Given the description of an element on the screen output the (x, y) to click on. 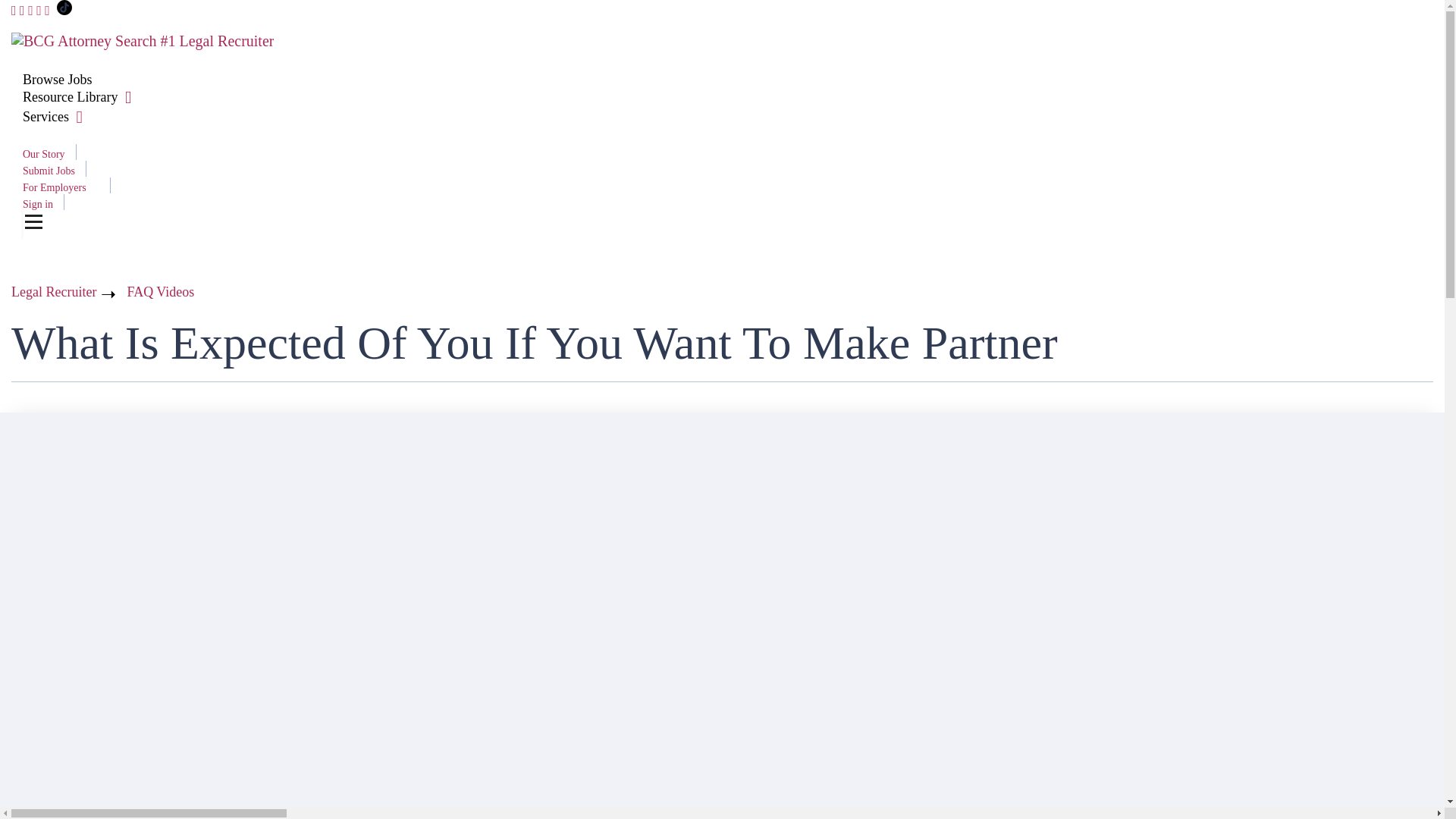
BCG Attorney Search Facebook (13, 10)
BCG Attorney Search Twitter (22, 10)
Browse Jobs (57, 79)
BCG Attorney Search Pinterest (47, 10)
BCG Attorney Search Linkedin (30, 10)
BCG Attorney Search Youtube (39, 10)
Services (45, 117)
Resource Library (70, 97)
BCG Attorney Search Tiktok (63, 10)
